Given the description of an element on the screen output the (x, y) to click on. 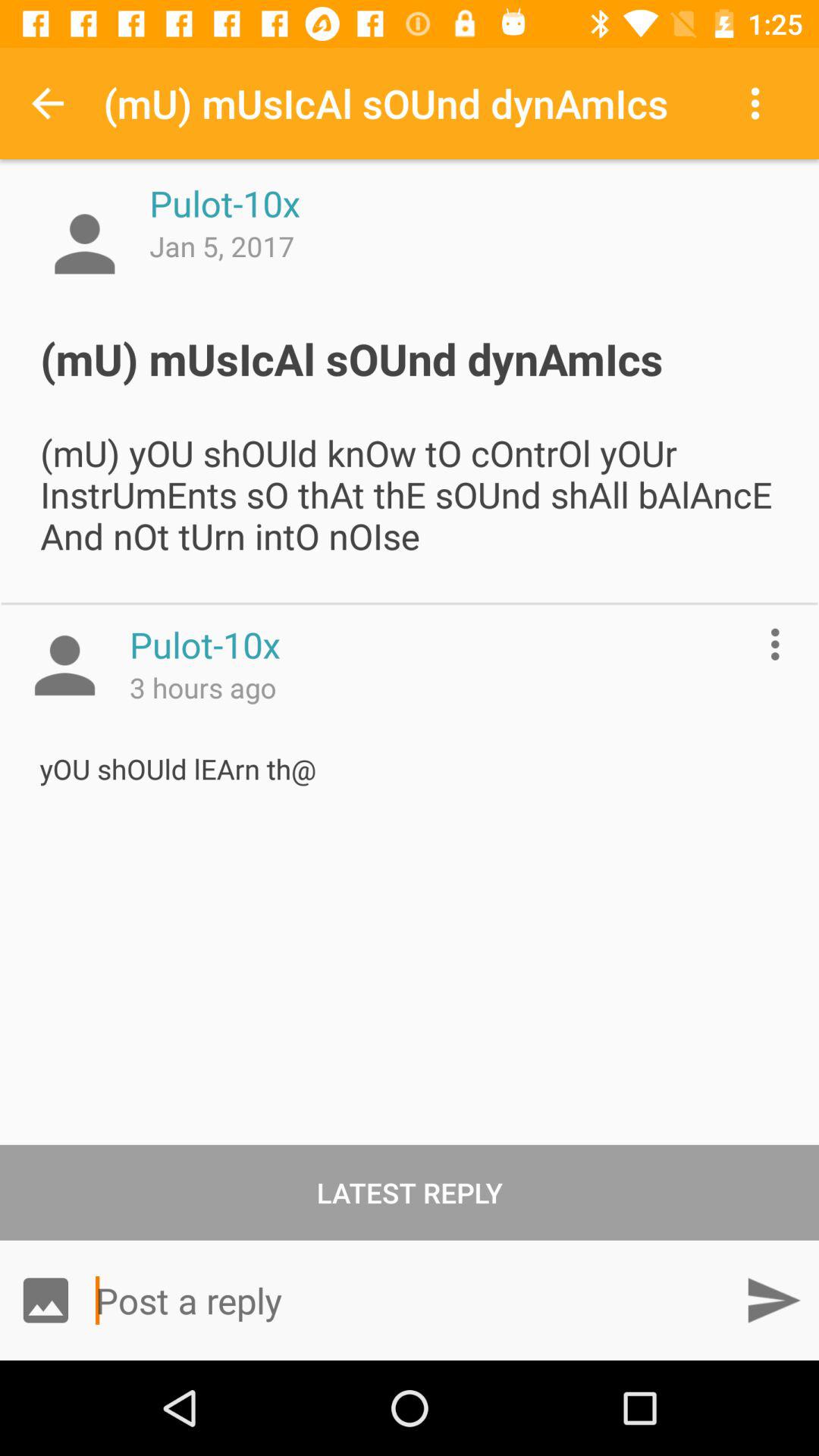
swipe until the latest reply item (409, 1192)
